Given the description of an element on the screen output the (x, y) to click on. 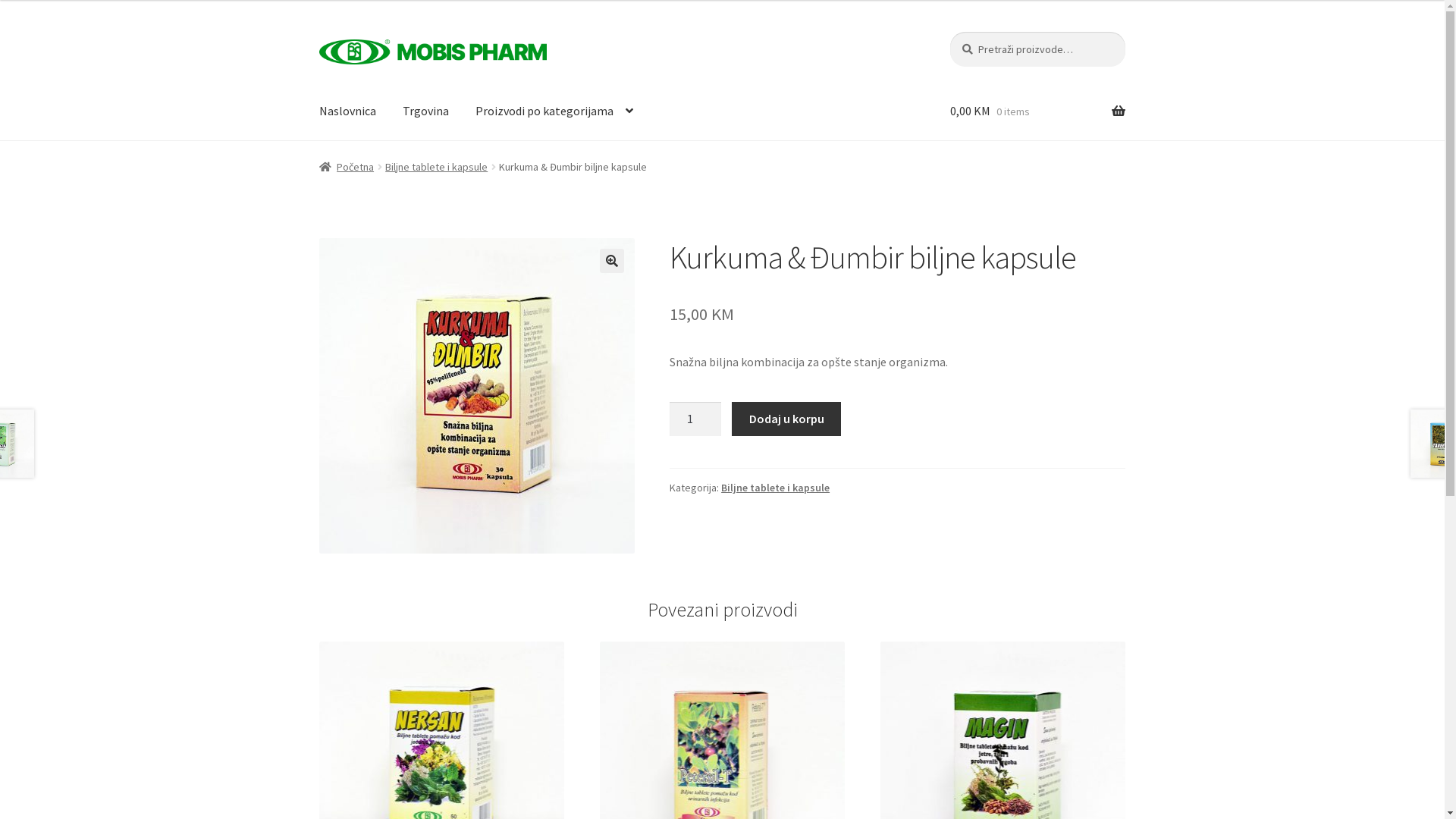
Naslovnica Element type: text (347, 111)
0,00 KM 0 items Element type: text (1037, 111)
Dodaj u korpu Element type: text (785, 418)
Trgovina Element type: text (425, 111)
Biljne tablete i kapsule Element type: text (436, 166)
Skip to navigation Element type: text (318, 31)
Proizvodi po kategorijama Element type: text (554, 111)
Biljne tablete i kapsule Element type: text (775, 487)
DSC_3046 Element type: hover (476, 395)
